Given the description of an element on the screen output the (x, y) to click on. 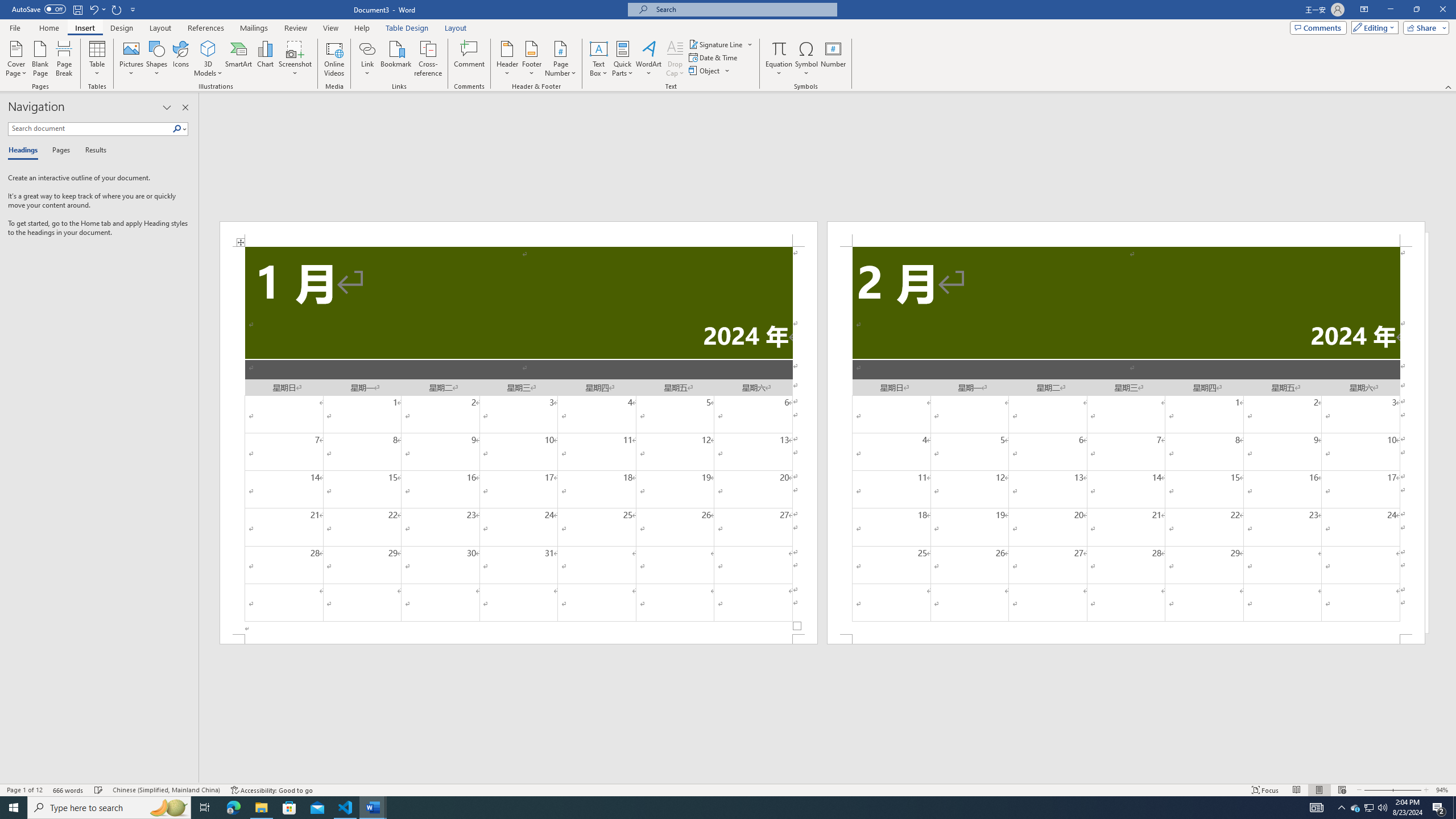
Word Count 666 words (68, 790)
Page Number (560, 58)
Microsoft search (742, 9)
Class: NetUIScrollBar (827, 778)
Chart... (265, 58)
Comment (469, 58)
Bookmark... (396, 58)
Repeat Doc Close (117, 9)
Class: MsoCommandBar (728, 789)
